Given the description of an element on the screen output the (x, y) to click on. 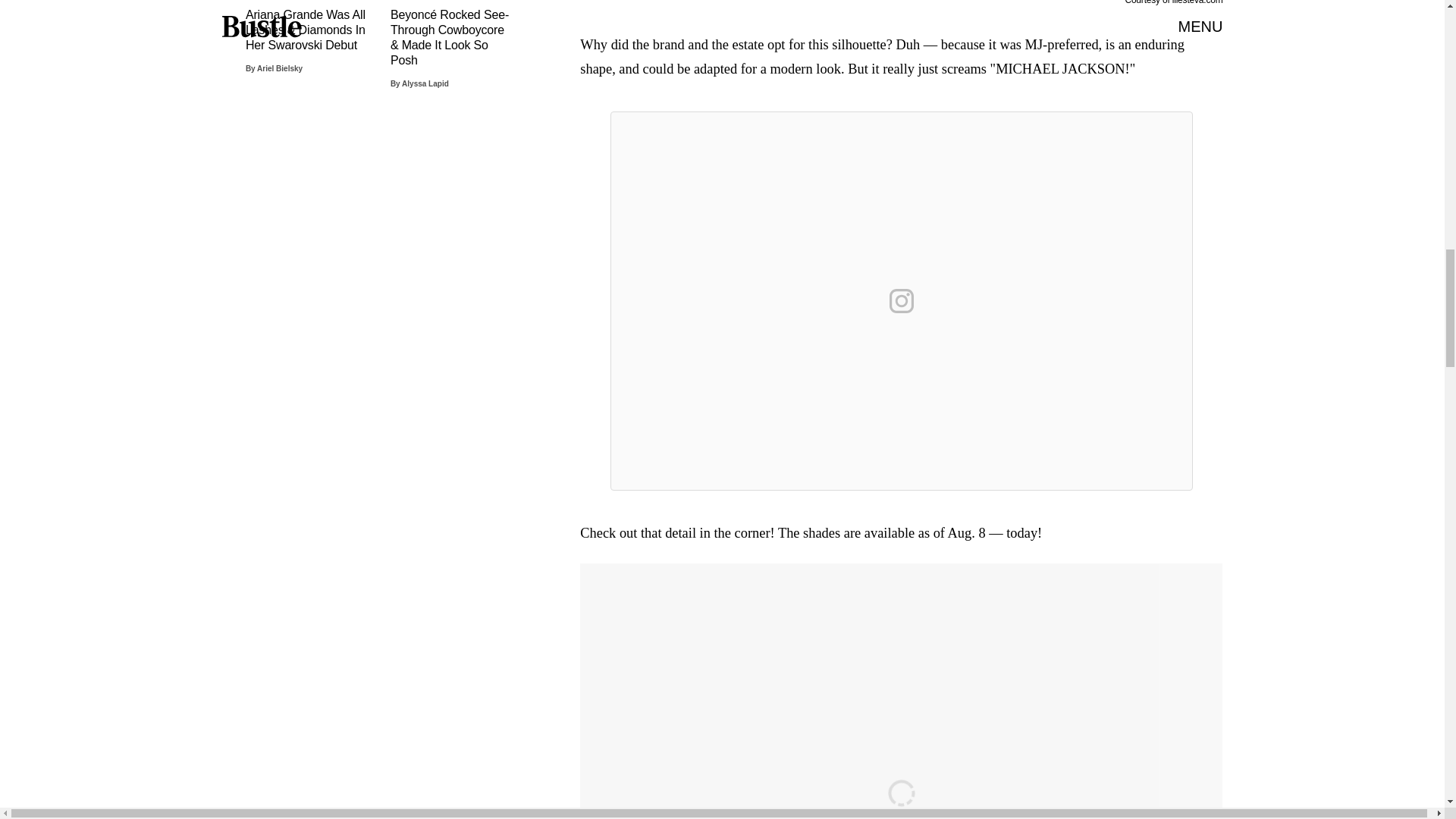
View on Instagram (901, 300)
